Given the description of an element on the screen output the (x, y) to click on. 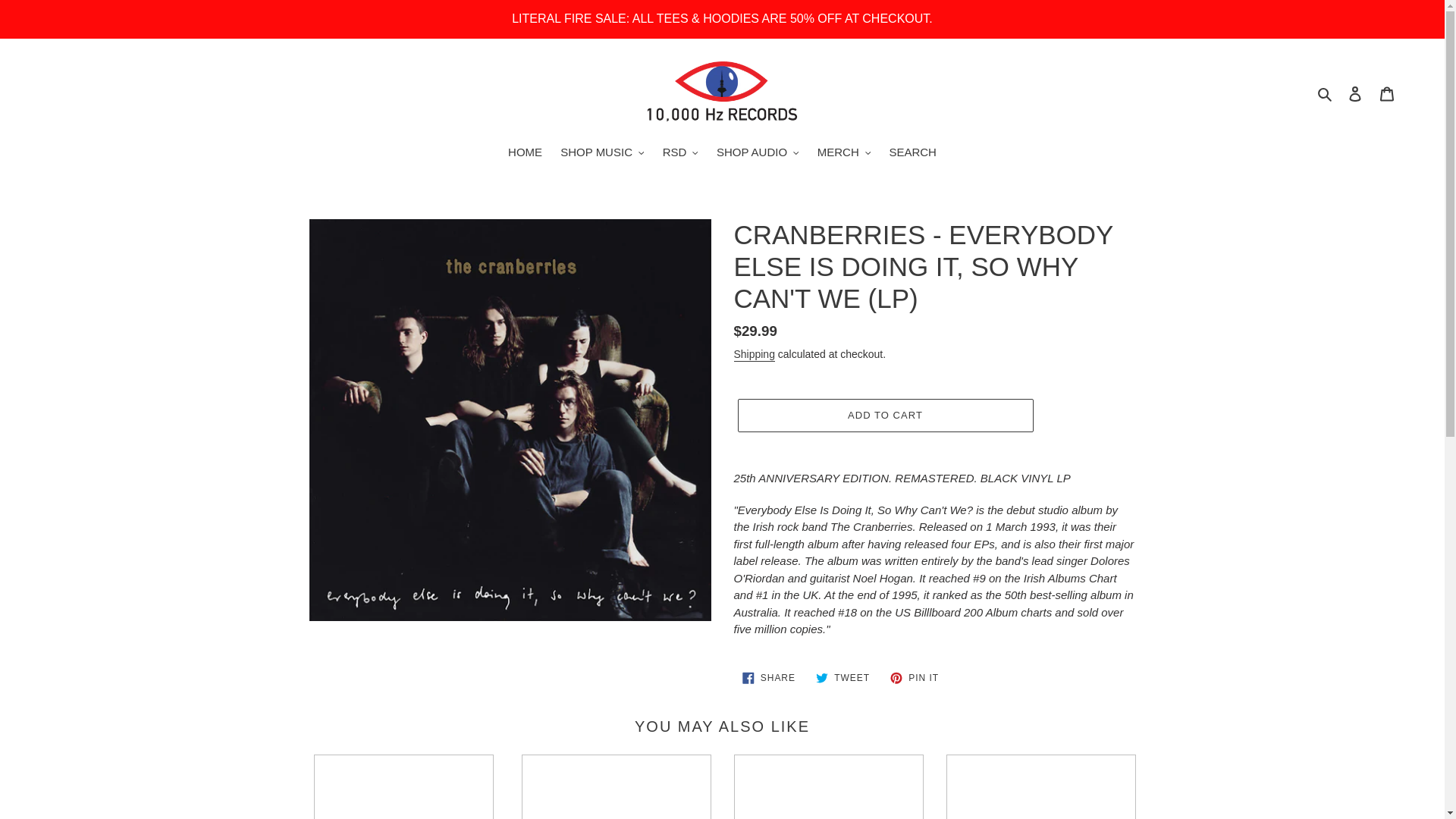
Log in (1355, 92)
Cart (1387, 92)
Search (1326, 93)
